Given the description of an element on the screen output the (x, y) to click on. 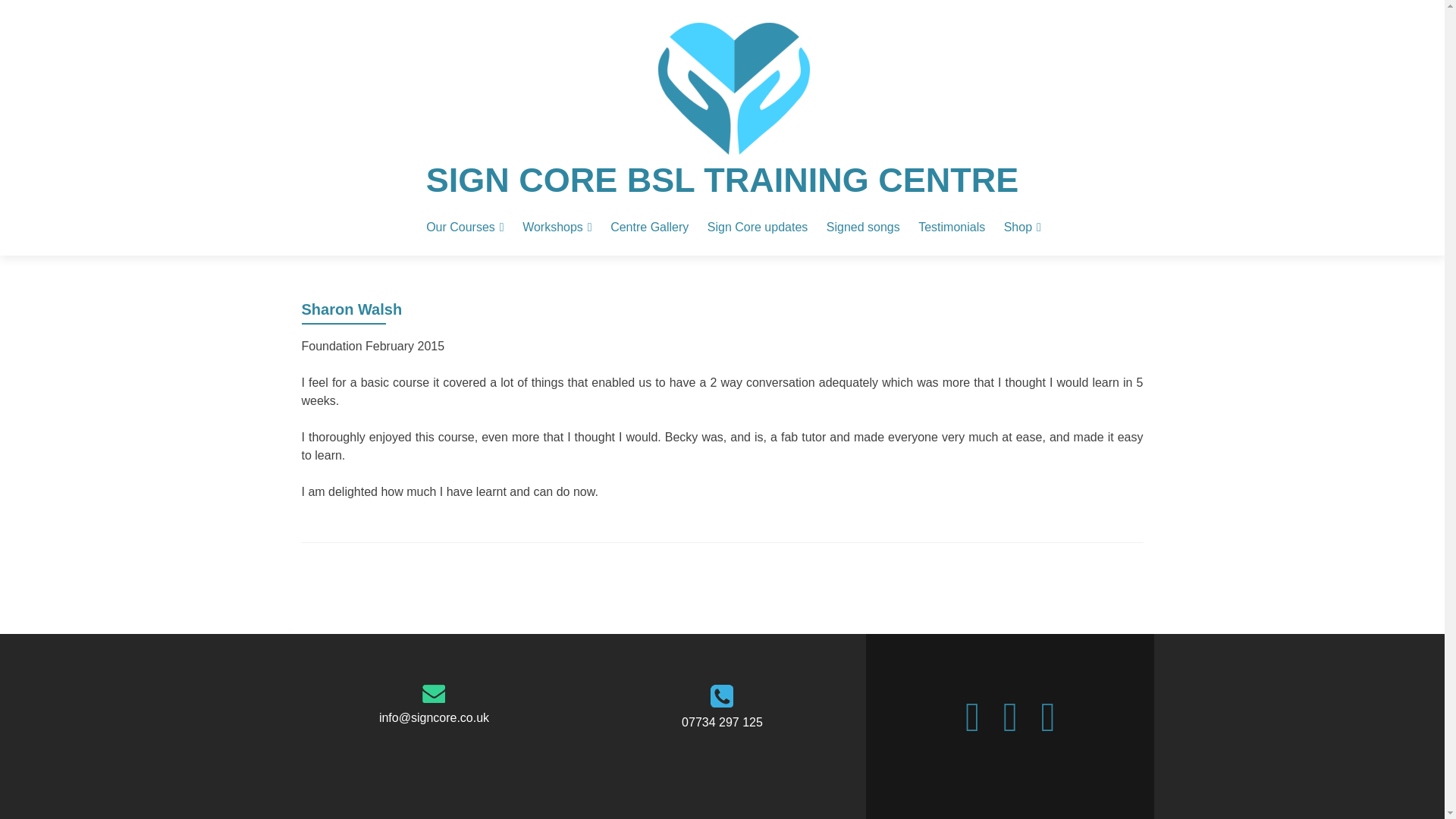
Testimonials (951, 226)
Signed songs (863, 226)
Centre Gallery (649, 226)
Workshops (557, 226)
Sign Core updates (757, 226)
Shop (1022, 226)
Our Courses (464, 226)
